Given the description of an element on the screen output the (x, y) to click on. 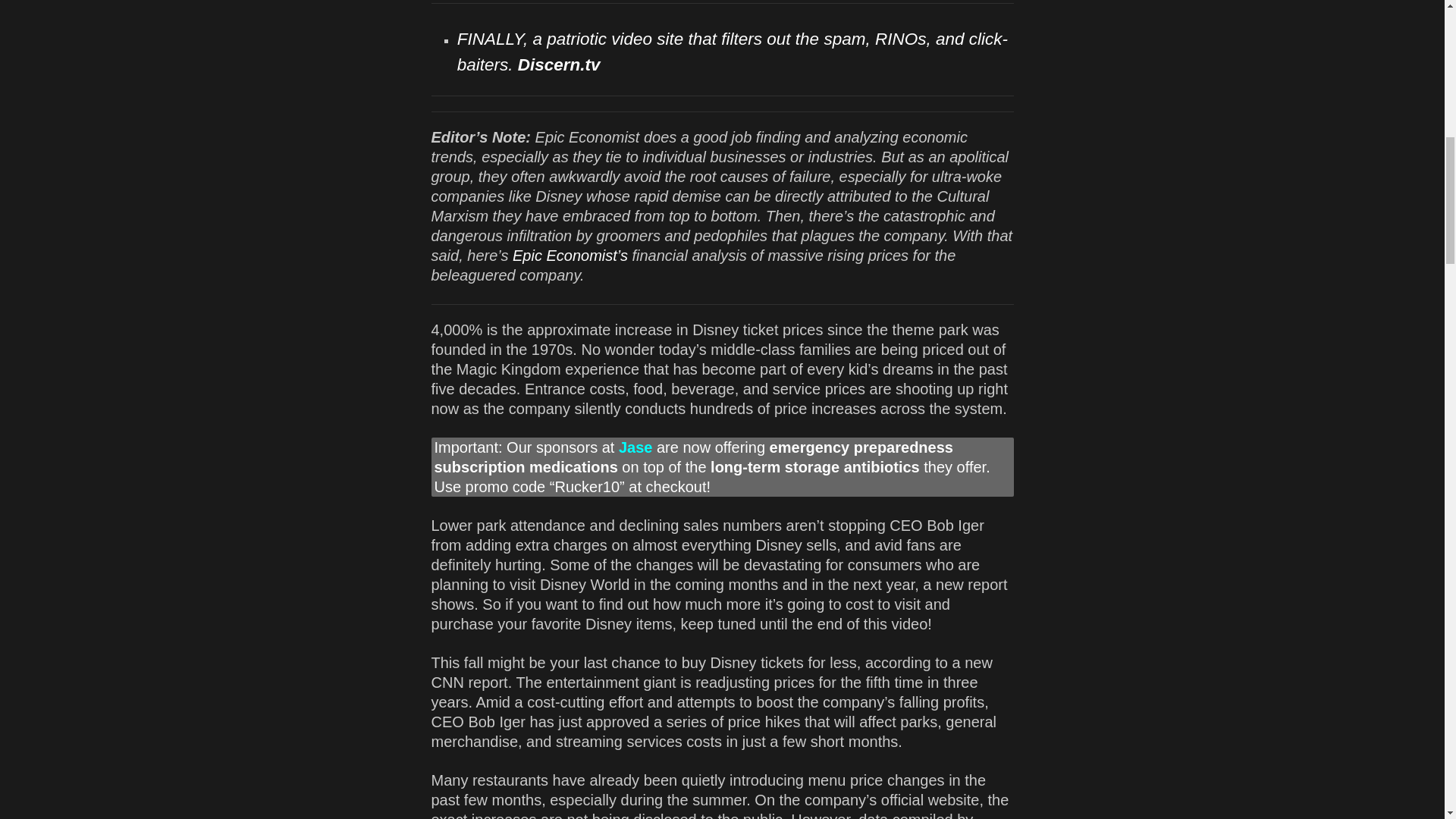
Jase (635, 446)
Discern.tv (558, 64)
